Given the description of an element on the screen output the (x, y) to click on. 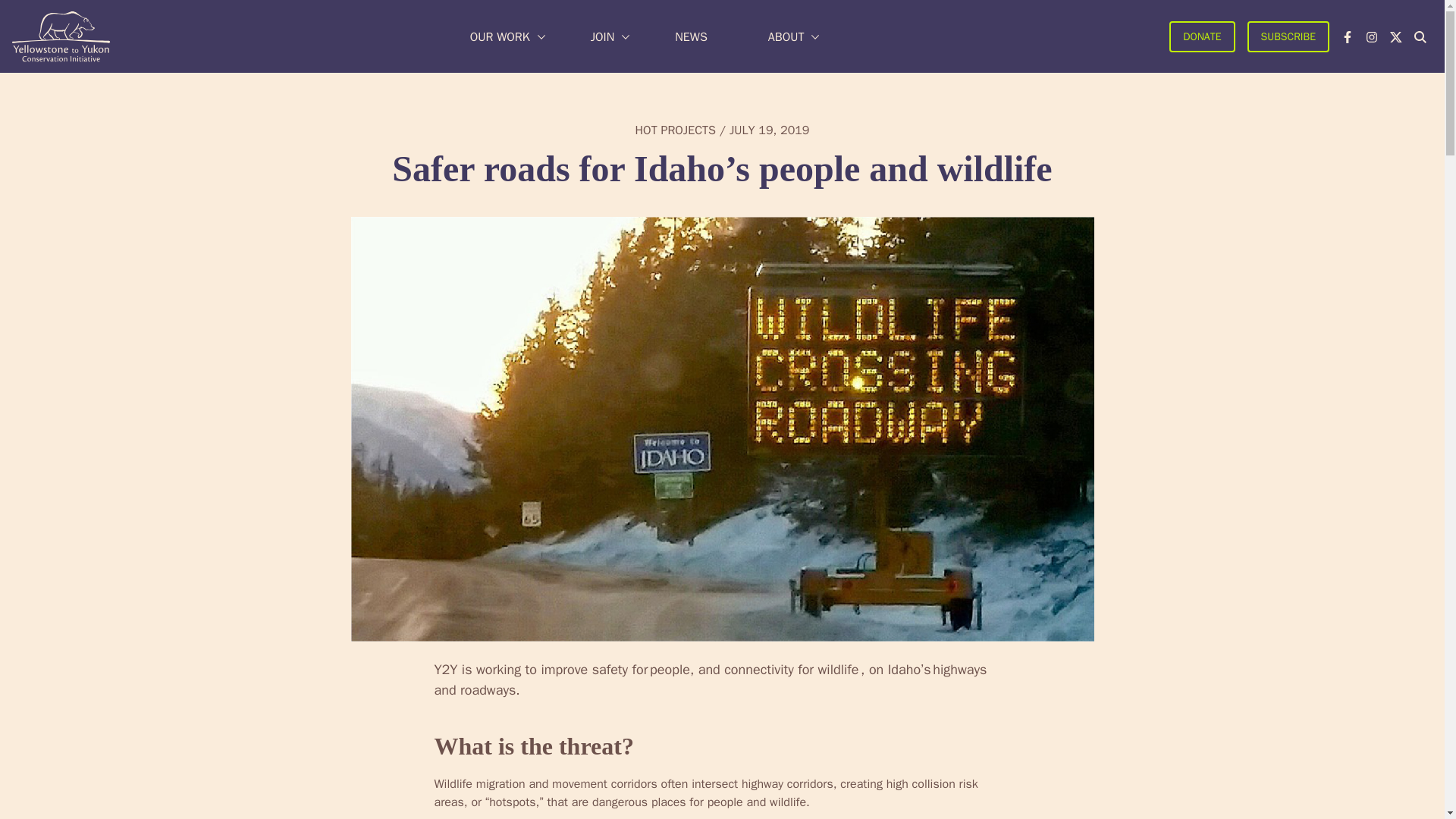
NEWS (691, 36)
OUR WORK (499, 36)
SUBSCRIBE (1288, 36)
DONATE (1201, 36)
Instagram (1371, 36)
JOIN (602, 36)
Facebook (1347, 36)
ABOUT (786, 36)
Twitter (1395, 36)
